Given the description of an element on the screen output the (x, y) to click on. 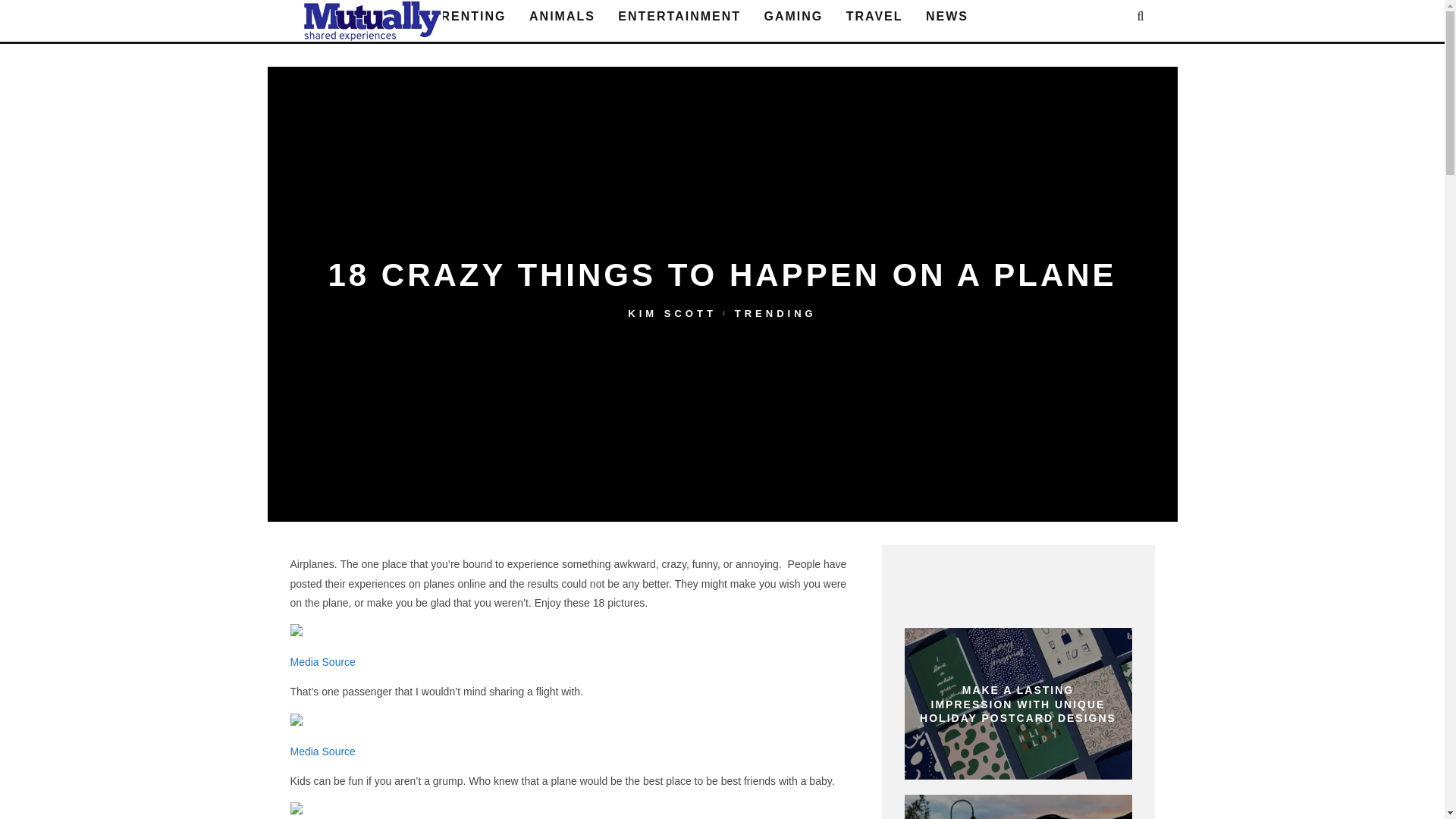
GAMING (793, 17)
Log In (721, 409)
NEWS (946, 17)
Media Source (322, 751)
TRENDING (775, 313)
TRAVEL (874, 17)
Media Source (322, 662)
ENTERTAINMENT (678, 17)
PARENTING (464, 17)
